Given the description of an element on the screen output the (x, y) to click on. 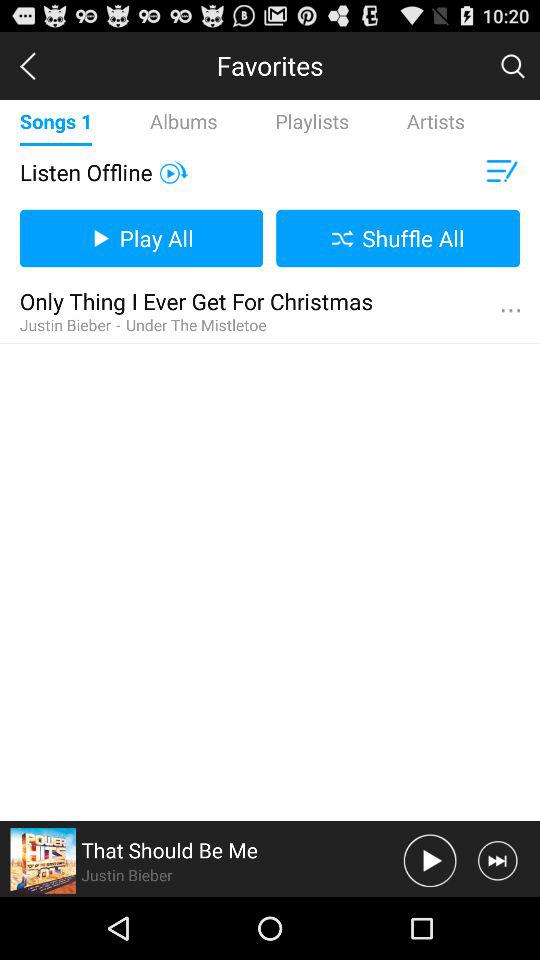
open album (43, 860)
